Given the description of an element on the screen output the (x, y) to click on. 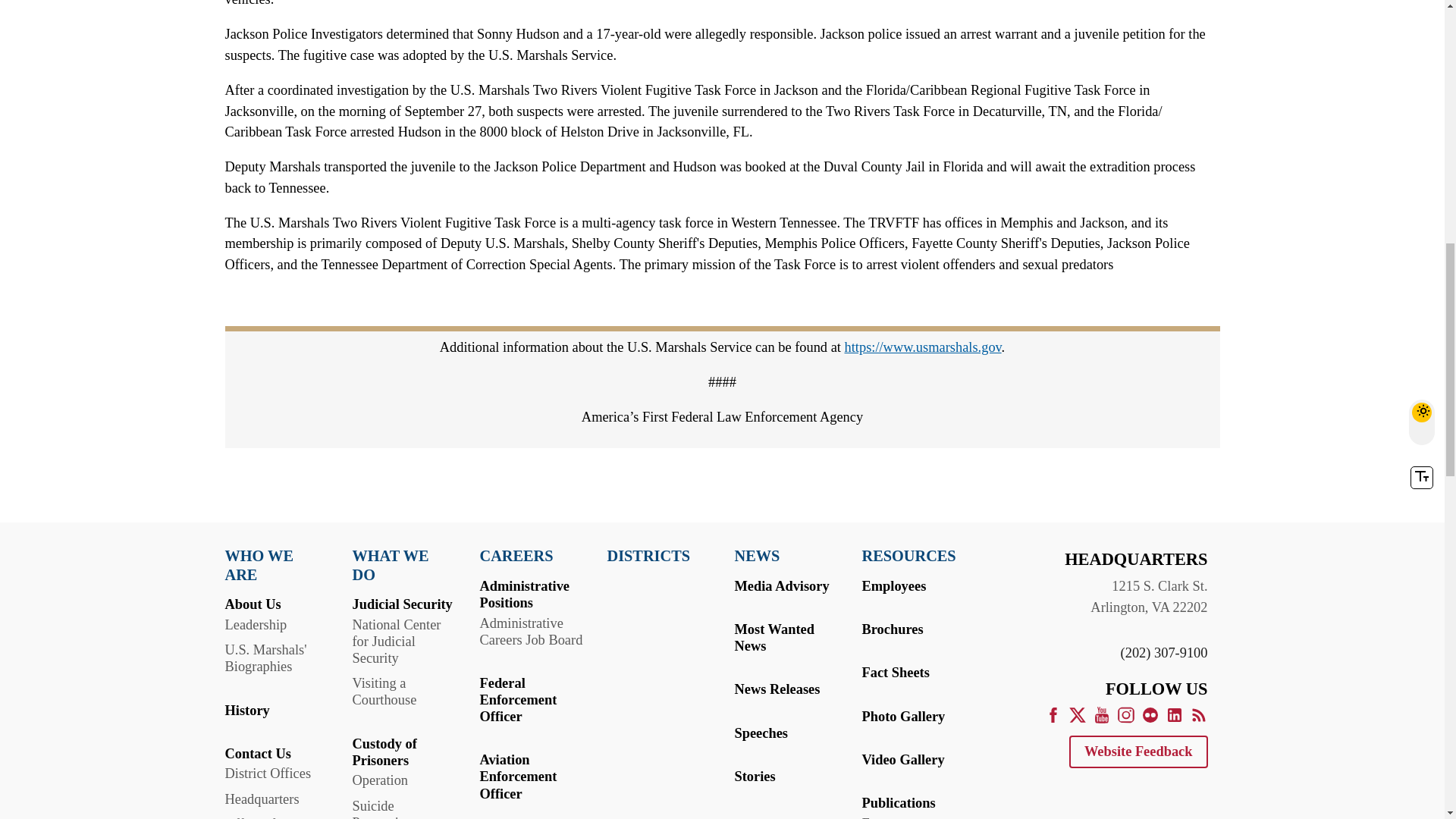
Office of Professional Responsibility (264, 817)
Custody of Prisoners (384, 752)
Operation (379, 780)
Judicial Security (401, 604)
District Offices (267, 773)
Leadership (255, 624)
U.S. Marshals' Biographies (264, 658)
National Center for Judicial Security (396, 641)
WHAT WE DO (403, 565)
Contact Us (256, 753)
